Given the description of an element on the screen output the (x, y) to click on. 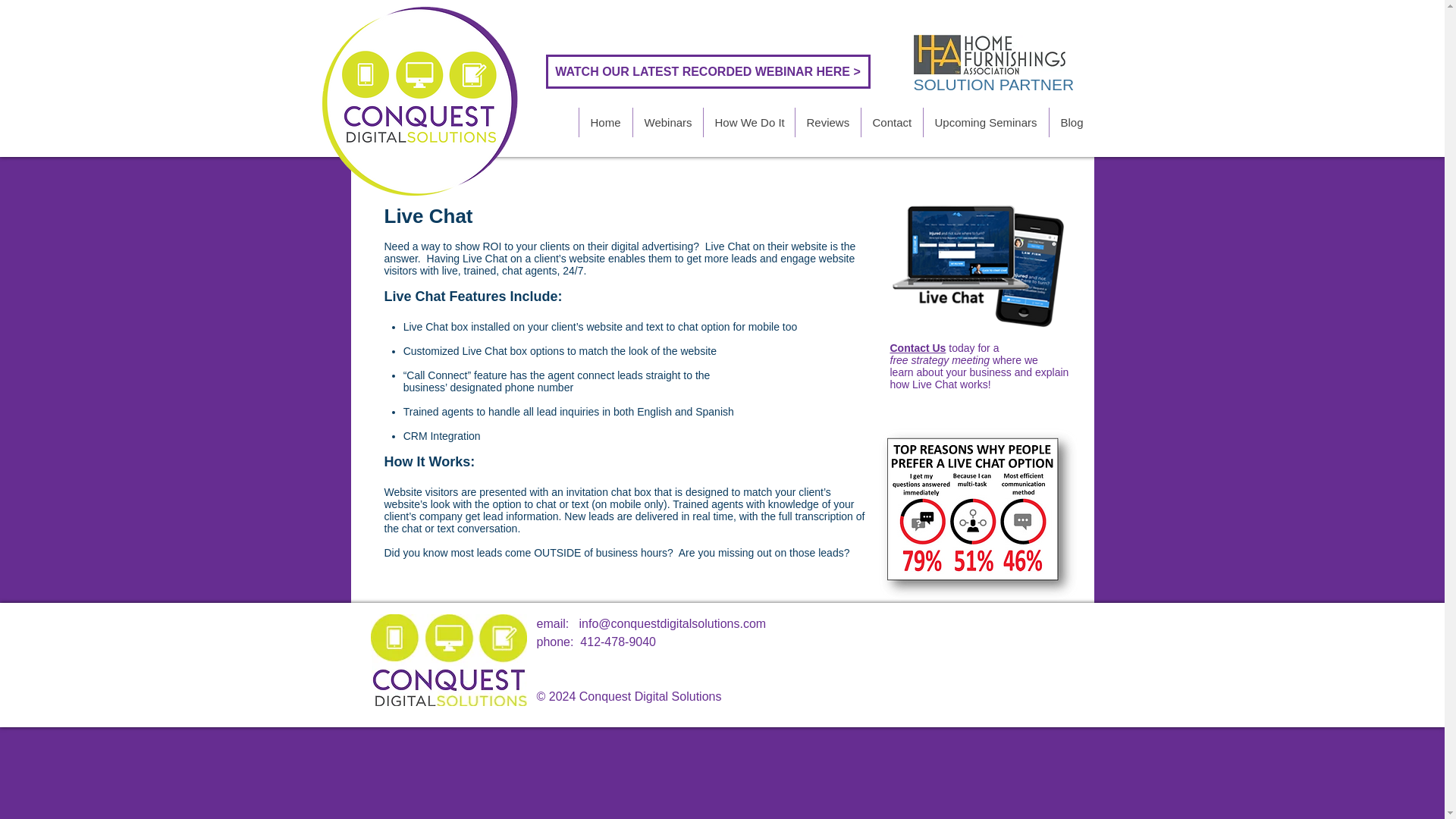
Home (604, 122)
SOLUTION PARTNER (993, 84)
Contact Us (917, 347)
Blog (1071, 122)
How We Do It (747, 122)
Reviews (827, 122)
Contact (890, 122)
Webinars (667, 122)
Embedded Content (610, 21)
Upcoming Seminars (984, 122)
